Given the description of an element on the screen output the (x, y) to click on. 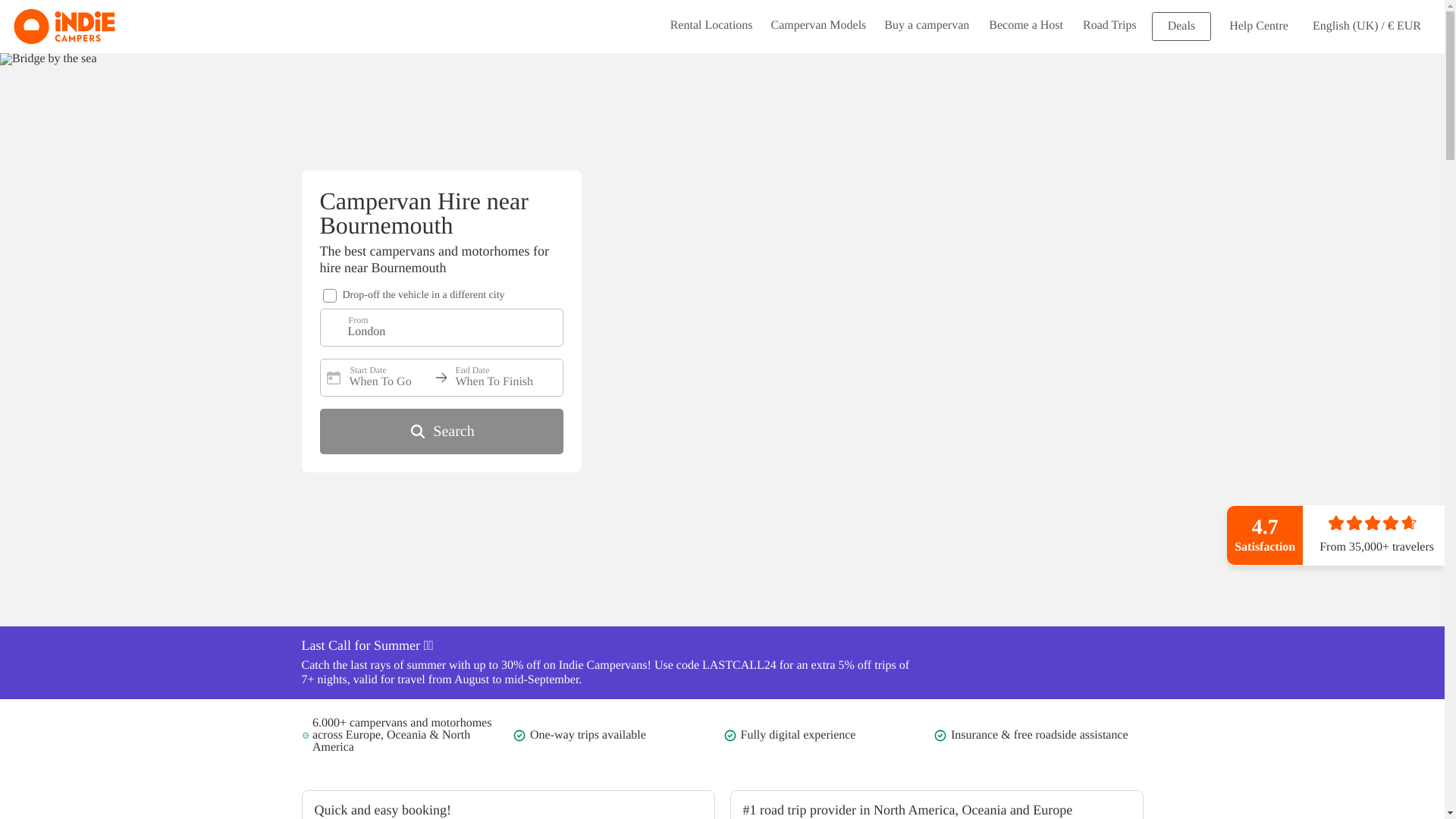
London (438, 327)
Bournemouth (48, 59)
on (329, 295)
London (438, 327)
Rental Locations (711, 26)
